Given the description of an element on the screen output the (x, y) to click on. 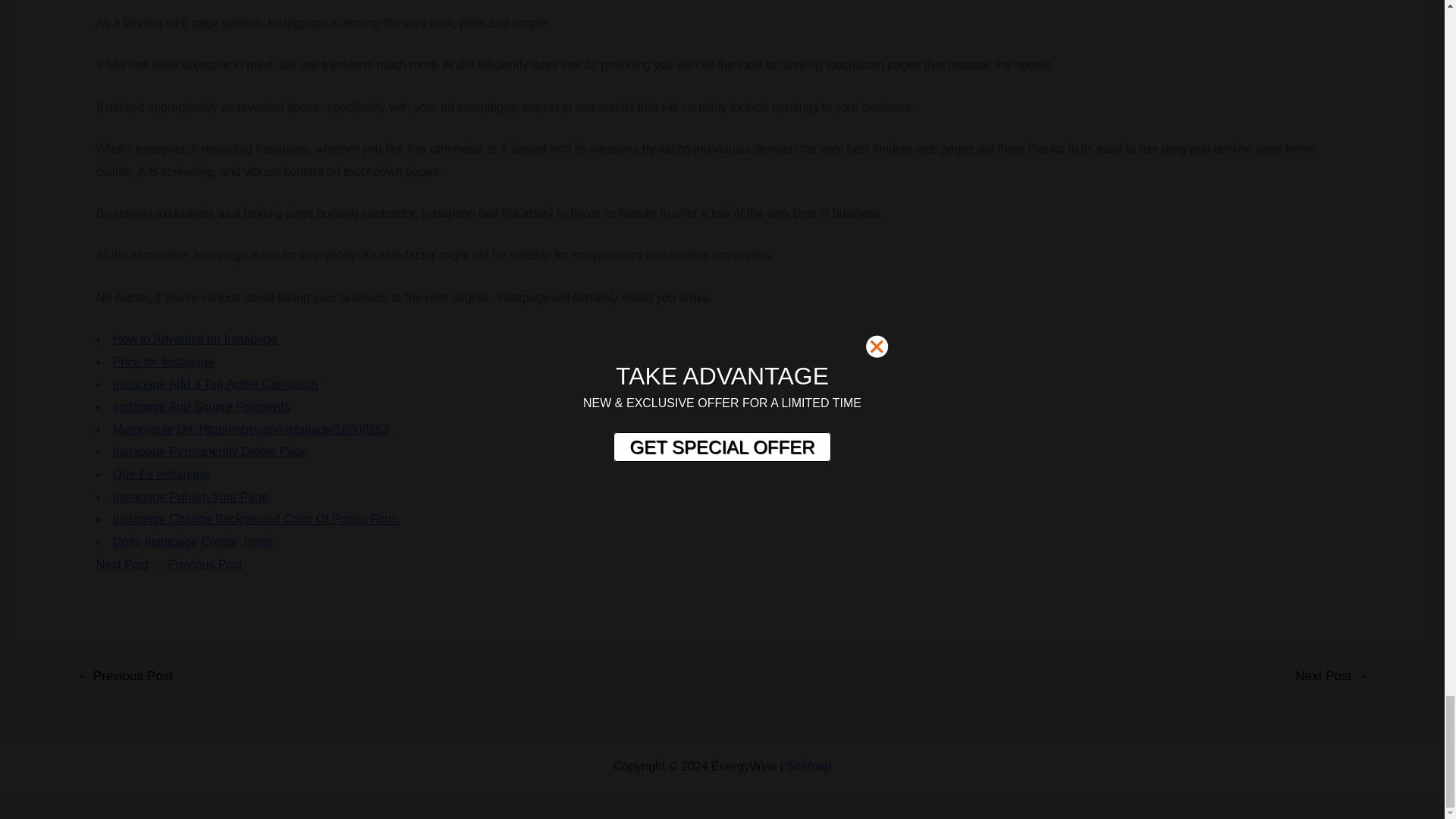
Instapage Permanently Delete Page (210, 451)
Previous Post (205, 563)
How to Advertise on Instapage (195, 338)
Does Instapage Create .coms (193, 541)
Instapage Change Background Color Of Popup Form (255, 518)
Instapage Change Background Color Of Popup Form (255, 518)
Instapage Add a Tag Active Campaign (215, 383)
How to Advertise on Instapage (195, 338)
Price for Instapage (163, 360)
Does Instapage Create .coms (193, 541)
Instapage Publish Your Page (191, 496)
Instapage Add a Tag Active Campaign (215, 383)
Instapage Permanently Delete Page (210, 451)
Instapage Publish Your Page (191, 496)
Sitemap (808, 766)
